Given the description of an element on the screen output the (x, y) to click on. 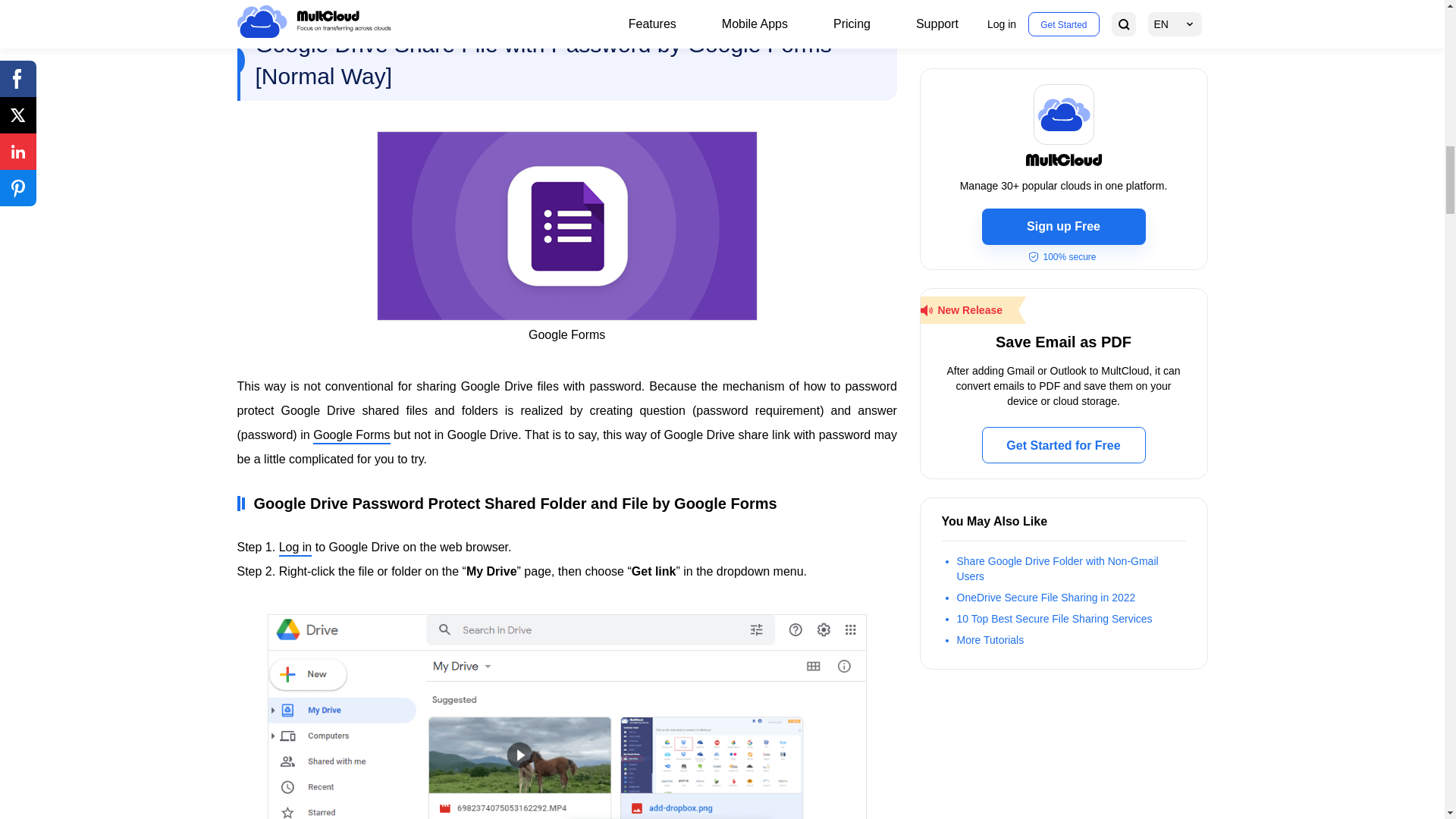
Google Forms (351, 435)
Google Forms (351, 435)
Log in (296, 547)
Log In (296, 547)
